Given the description of an element on the screen output the (x, y) to click on. 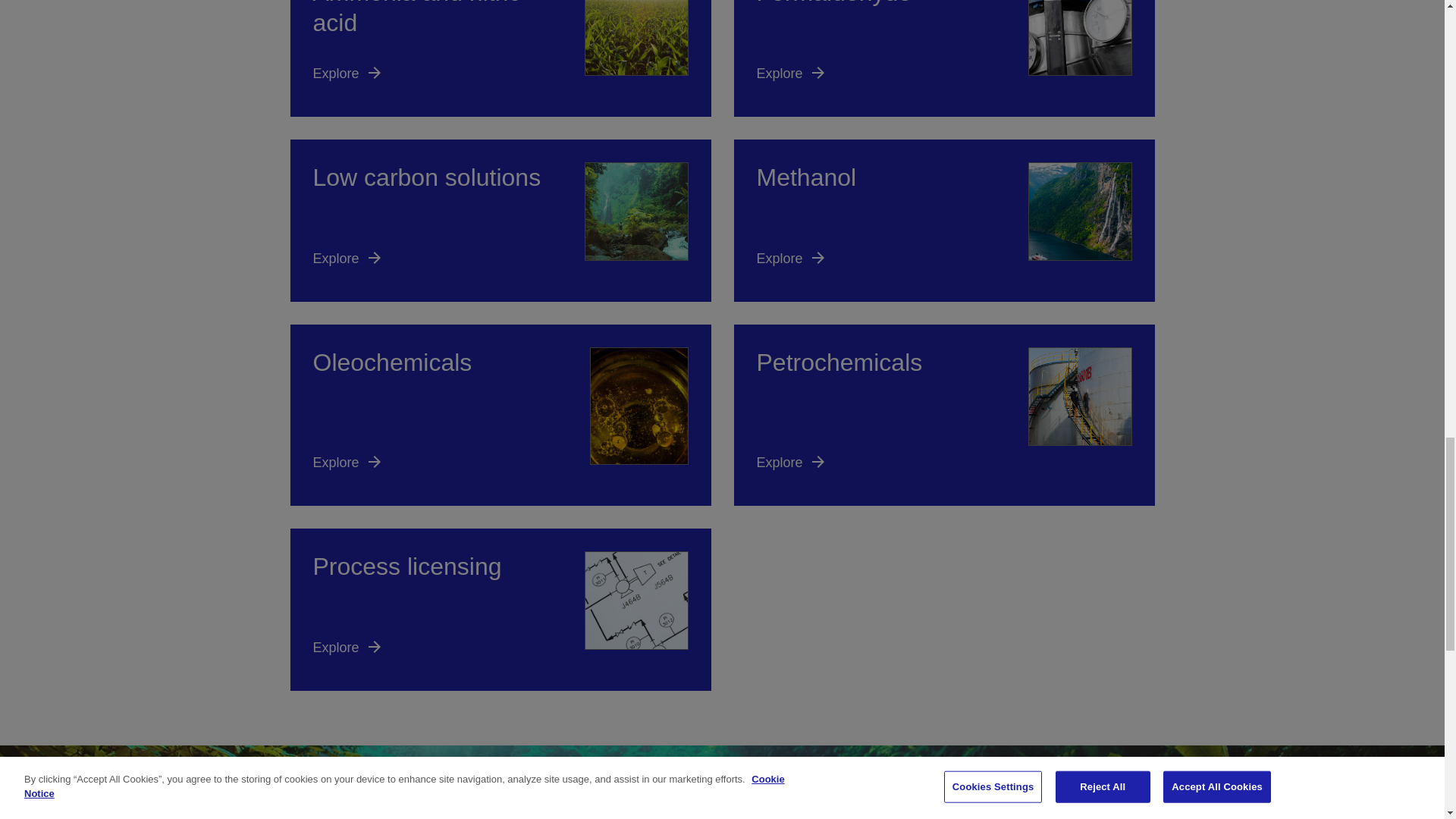
Ammonia and nitric acid (499, 58)
Low carbon solutions (499, 220)
Petrochemicals (943, 414)
Methanol (943, 220)
Process licensing (499, 609)
Oleochemicals (499, 414)
Formaldehyde (943, 58)
